Given the description of an element on the screen output the (x, y) to click on. 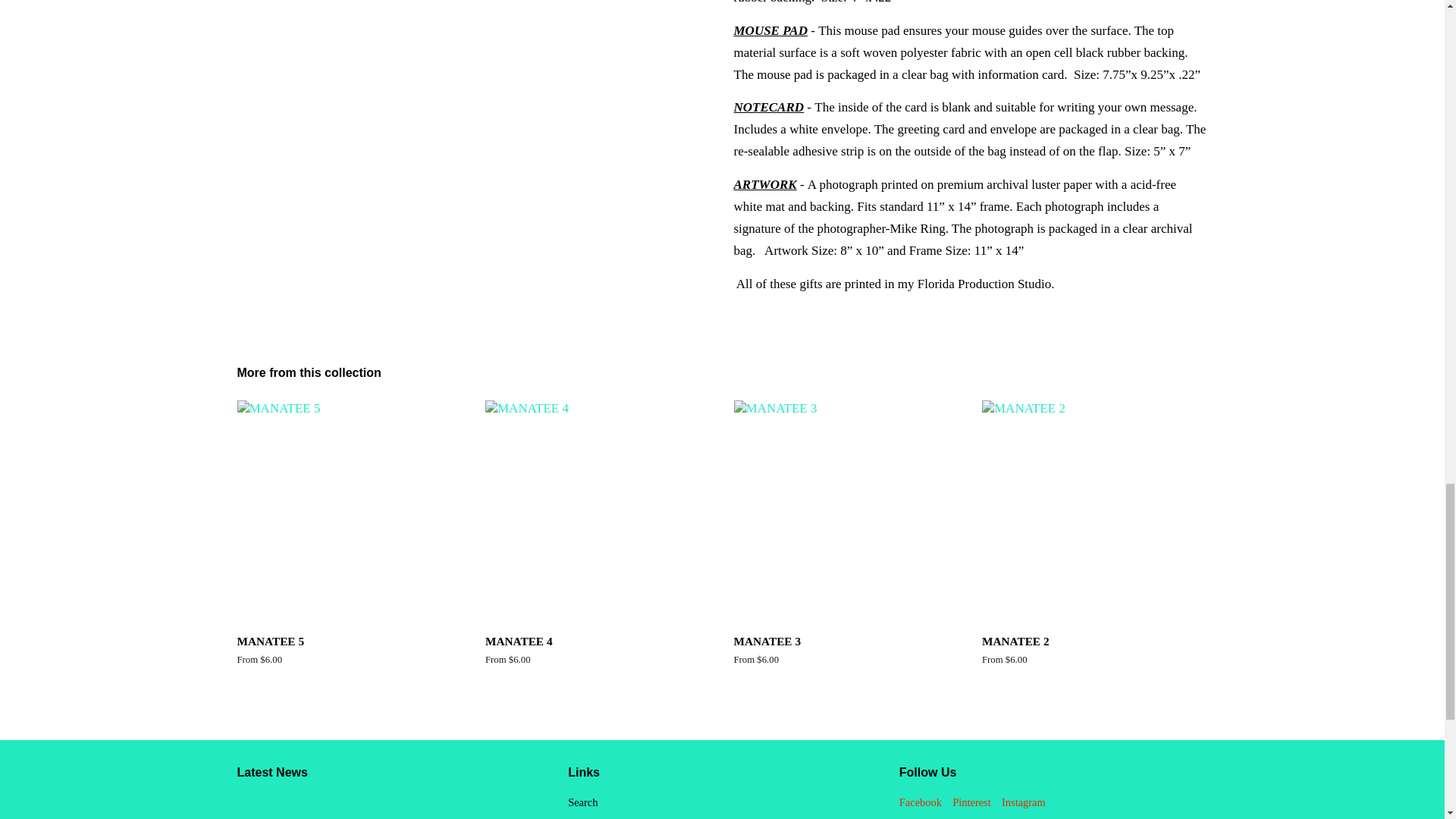
Mike Ring Photography on Instagram (1023, 802)
Mike Ring Photography on Pinterest (971, 802)
Mike Ring Photography on Facebook (920, 802)
